Given the description of an element on the screen output the (x, y) to click on. 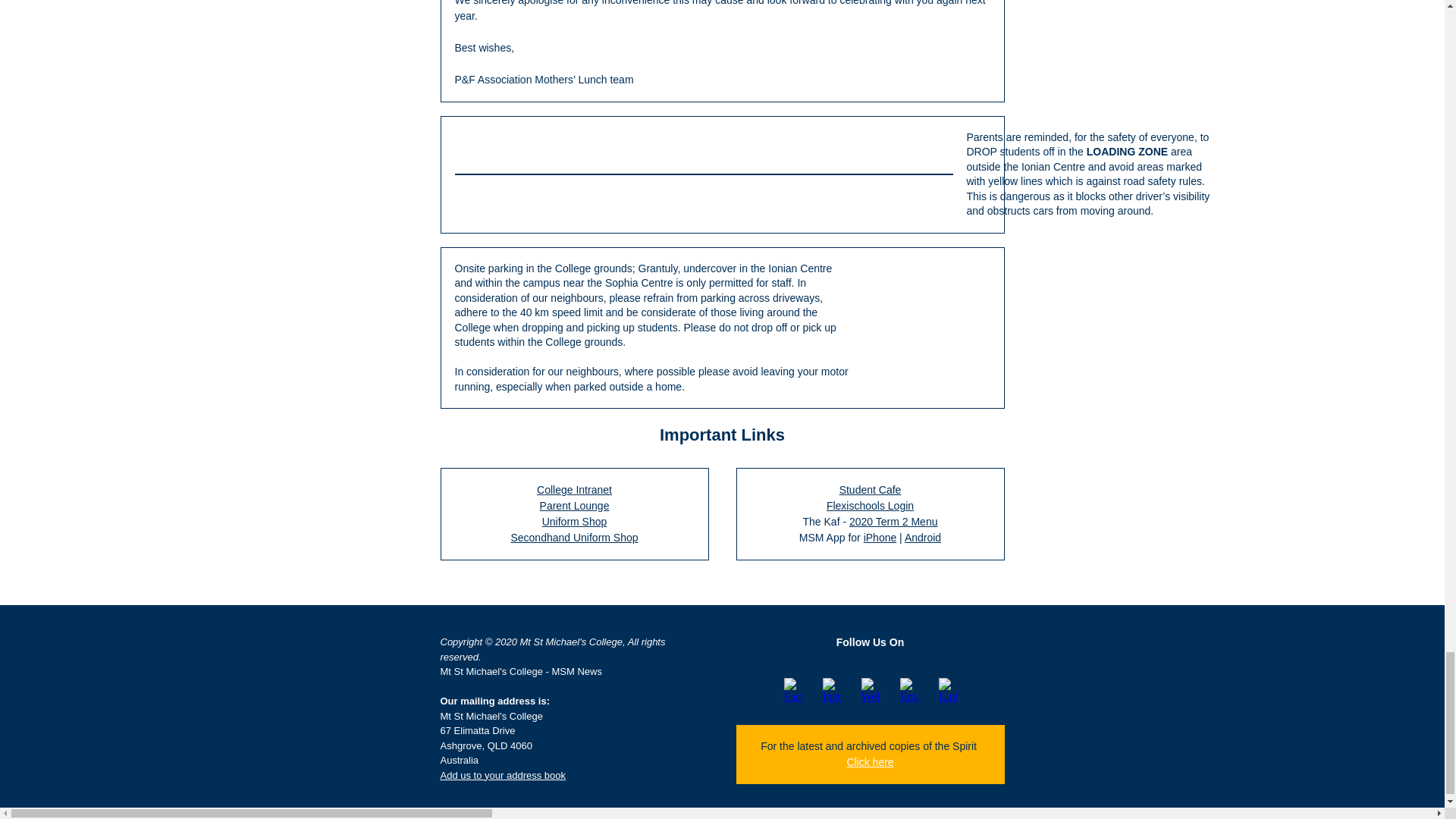
Parent Lounge (575, 505)
Uniform Shop (574, 521)
Add us to your address book (502, 774)
College Intranet (574, 490)
Click here (869, 761)
2020 Term 2 Menu (892, 521)
Android (922, 537)
Student Cafe (870, 490)
iPhone (879, 537)
Flexischools Login (870, 505)
Secondhand Uniform Shop (574, 537)
